Given the description of an element on the screen output the (x, y) to click on. 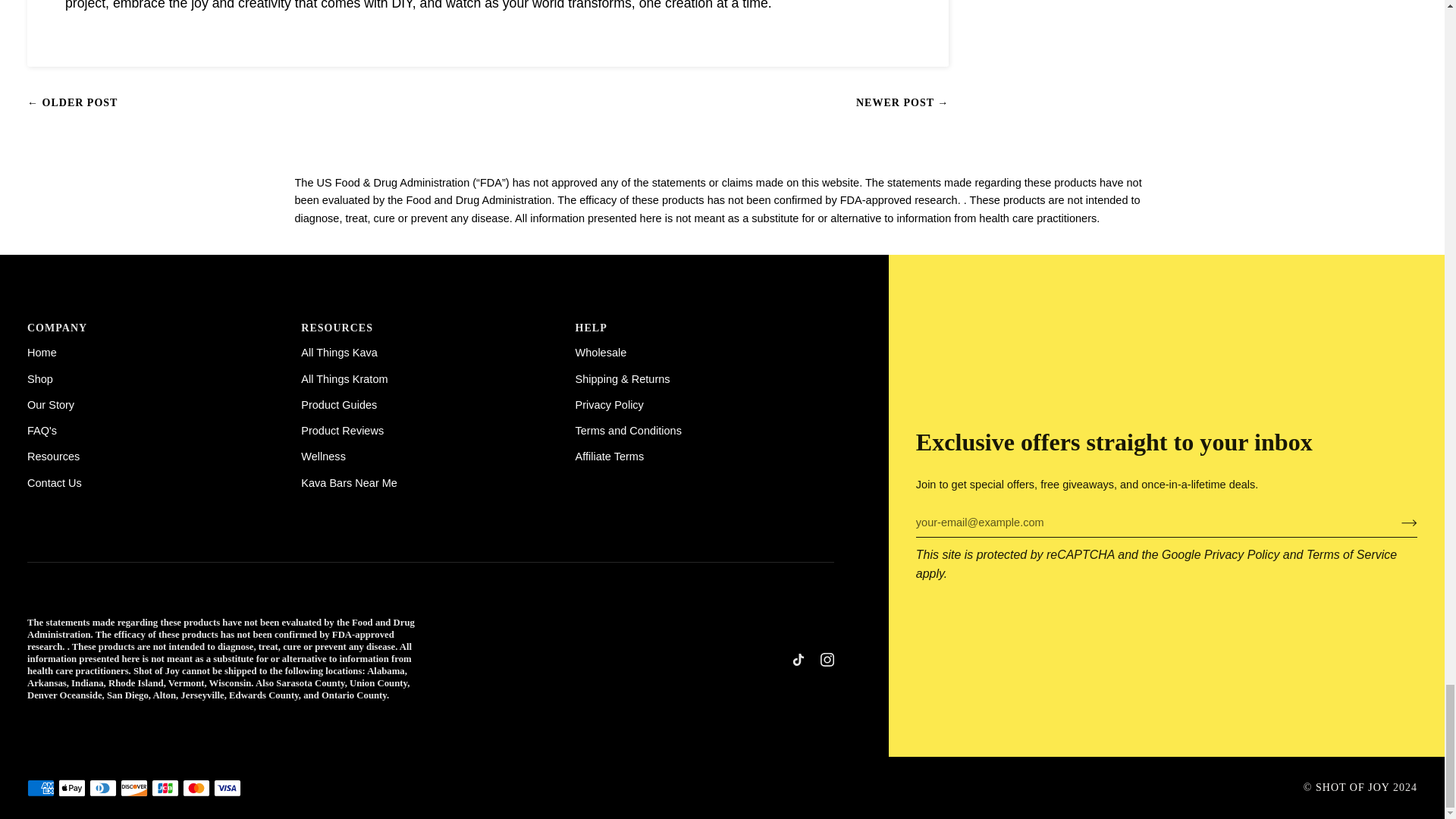
MASTERCARD (196, 787)
Tiktok (798, 659)
VISA (227, 787)
JCB (165, 787)
Instagram (827, 659)
DINERS CLUB (102, 787)
AMERICAN EXPRESS (41, 787)
APPLE PAY (71, 787)
DISCOVER (134, 787)
